Given the description of an element on the screen output the (x, y) to click on. 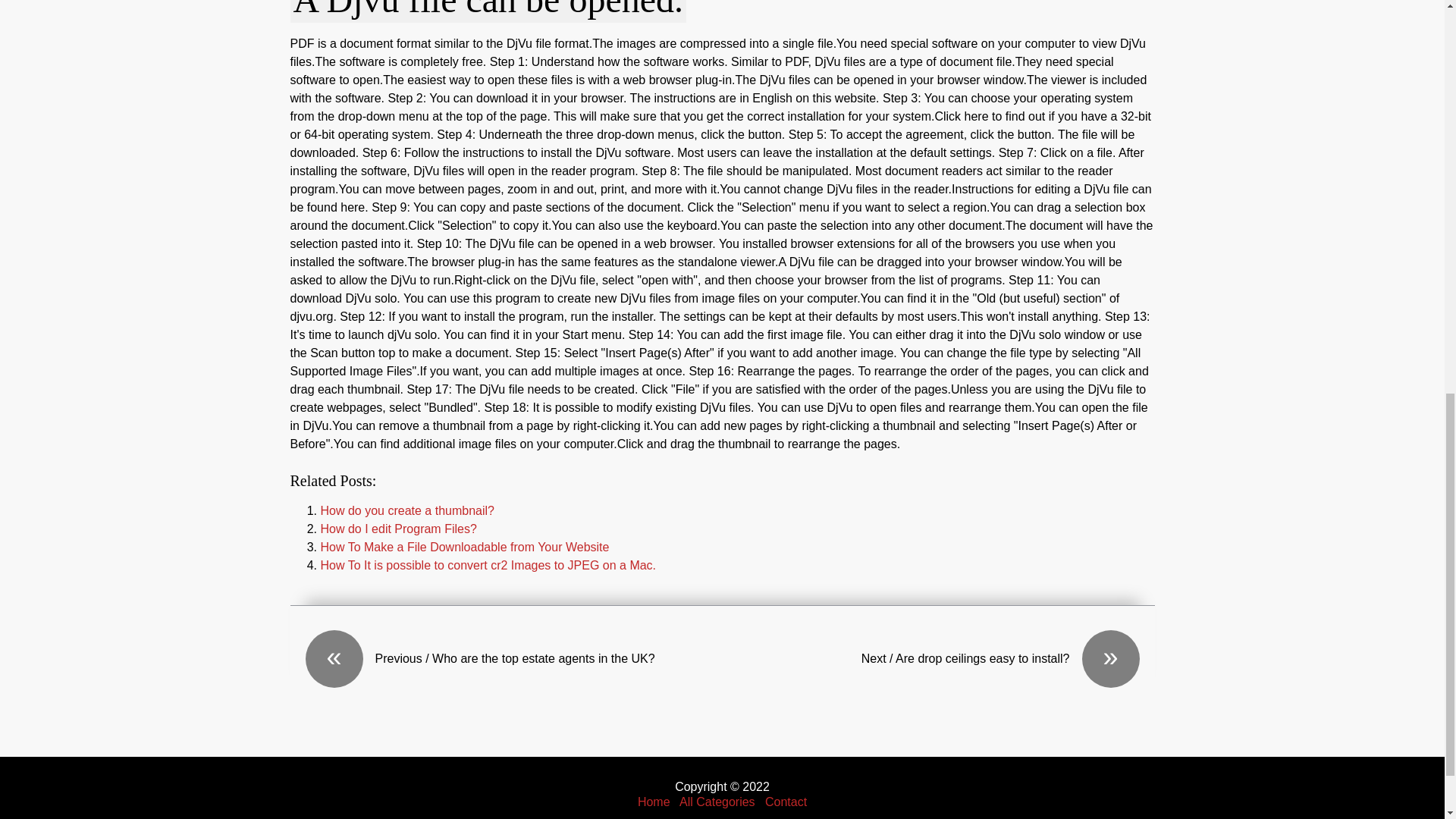
Who are the top estate agents in the UK? (513, 658)
Home (653, 801)
How To Make a File Downloadable from Your Website (464, 546)
How do I edit Program Files? (398, 528)
Are drop ceilings easy to install? (930, 658)
All Categories (717, 801)
Contact Us (785, 801)
Contact (785, 801)
How do you create a thumbnail? (406, 510)
Categories (717, 801)
